Given the description of an element on the screen output the (x, y) to click on. 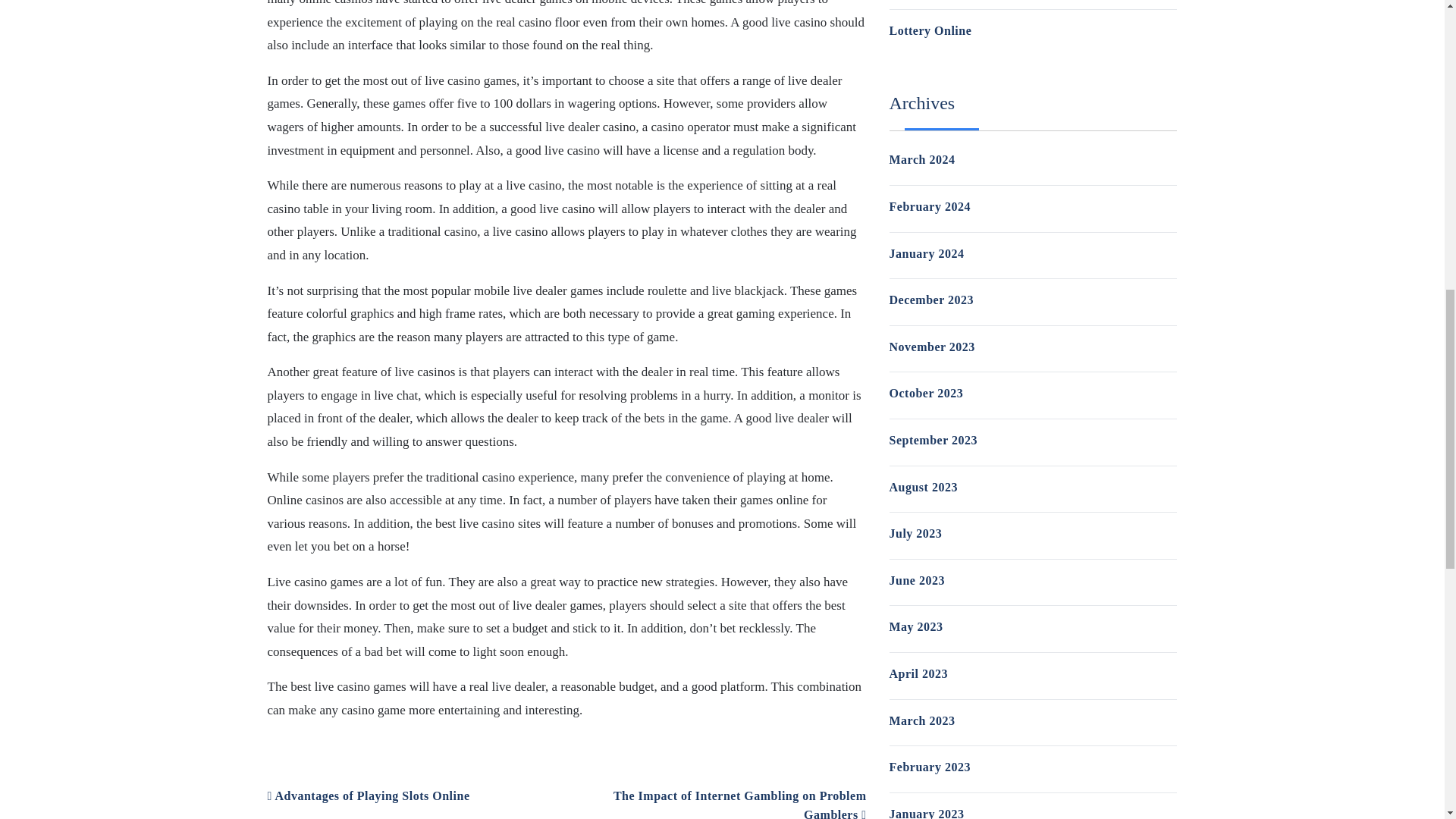
May 2023 (915, 626)
Advantages of Playing Slots Online (367, 795)
January 2024 (925, 253)
September 2023 (932, 440)
April 2023 (917, 673)
November 2023 (931, 346)
December 2023 (931, 299)
August 2023 (922, 486)
January 2023 (925, 813)
The Impact of Internet Gambling on Problem Gamblers (739, 804)
March 2023 (921, 720)
February 2024 (928, 205)
Lottery Online (929, 30)
October 2023 (925, 392)
June 2023 (915, 580)
